Given the description of an element on the screen output the (x, y) to click on. 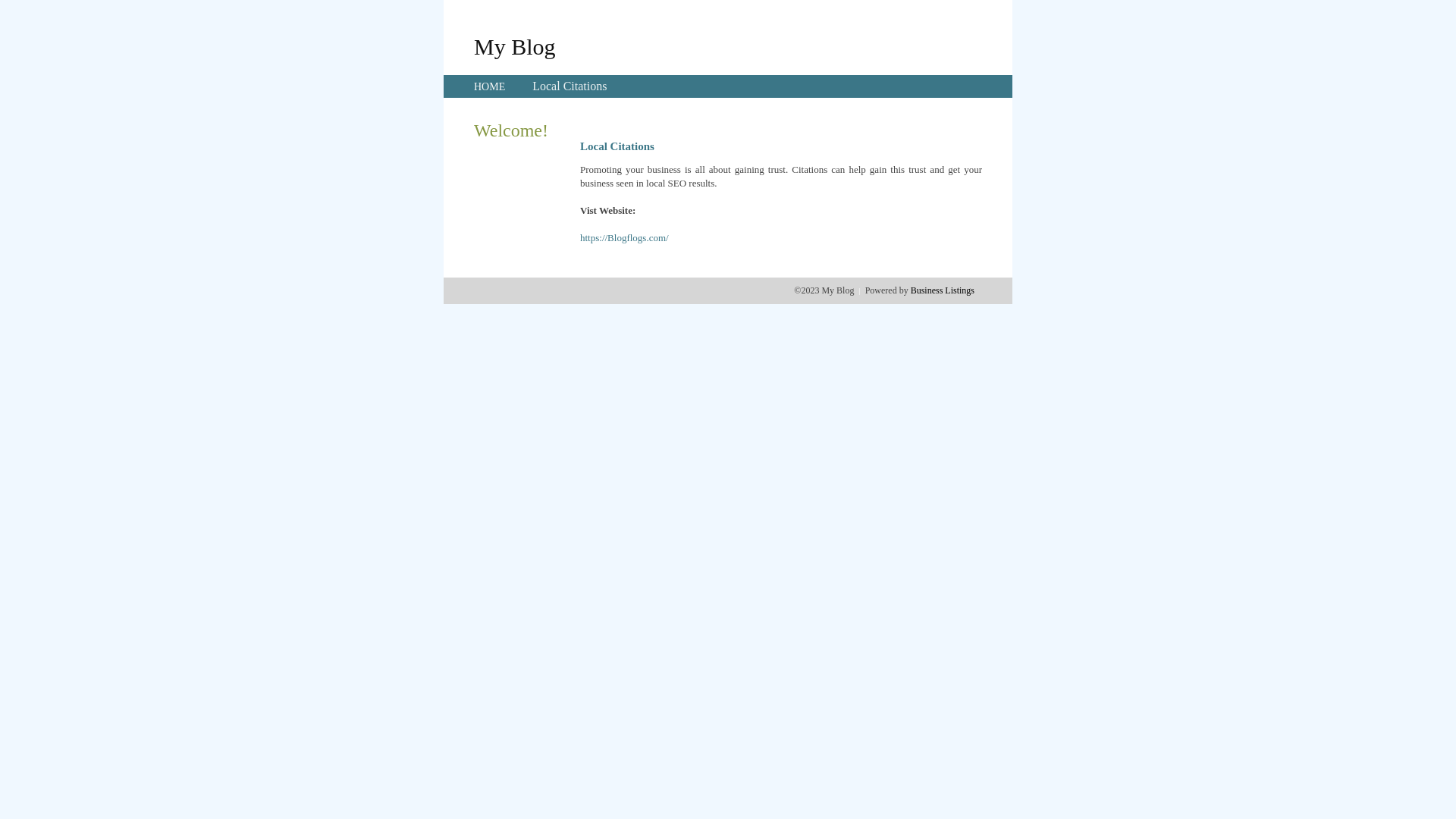
HOME Element type: text (489, 86)
Business Listings Element type: text (942, 290)
https://Blogflogs.com/ Element type: text (624, 237)
Local Citations Element type: text (569, 85)
My Blog Element type: text (514, 46)
